Given the description of an element on the screen output the (x, y) to click on. 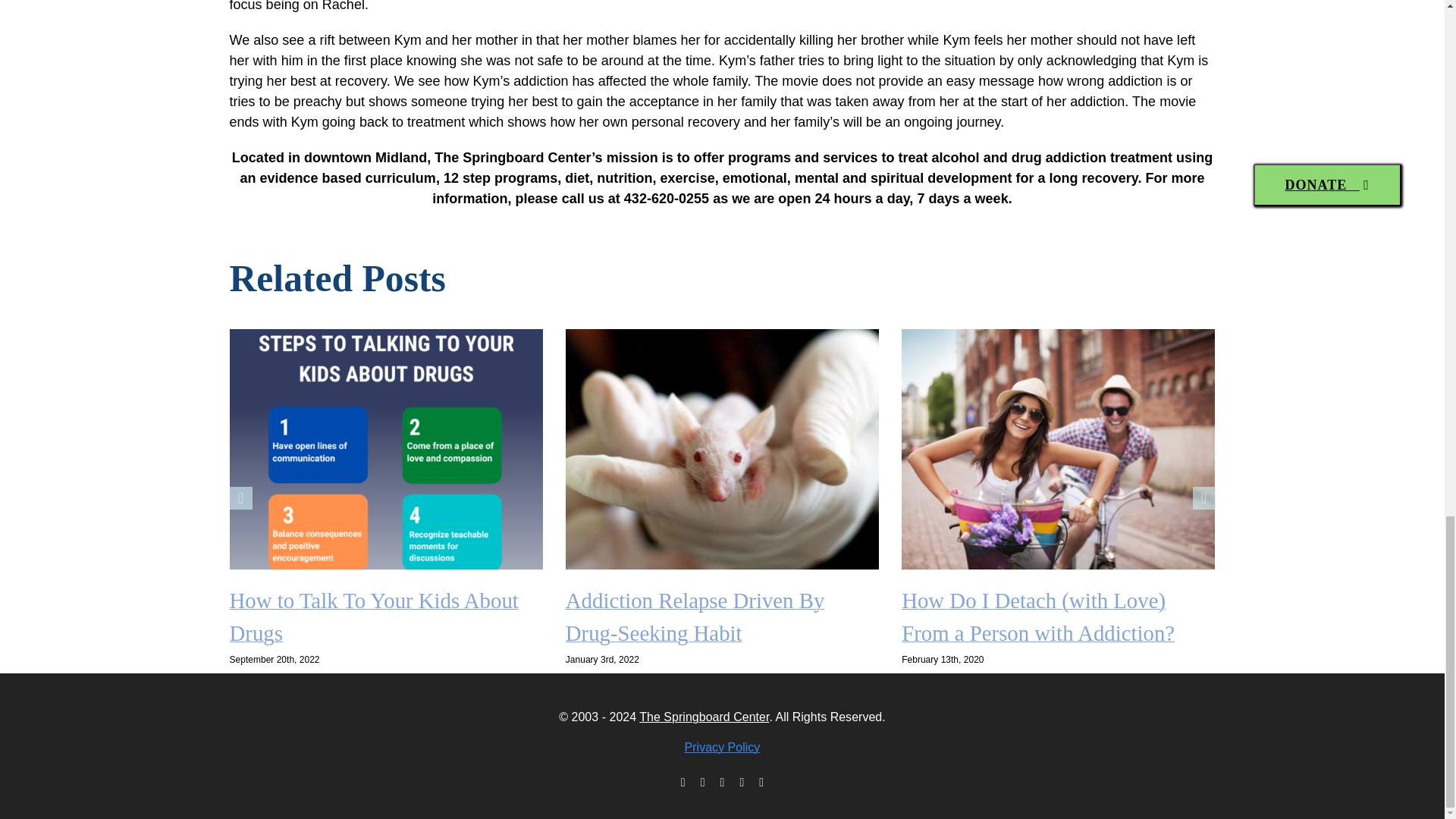
How to Talk To Your Kids About Drugs (373, 616)
Click here to go to our Privacy Policy page (722, 747)
Click here to go to The Springboard Center home page (703, 716)
Addiction Relapse Driven By Drug-Seeking Habit (695, 616)
